Given the description of an element on the screen output the (x, y) to click on. 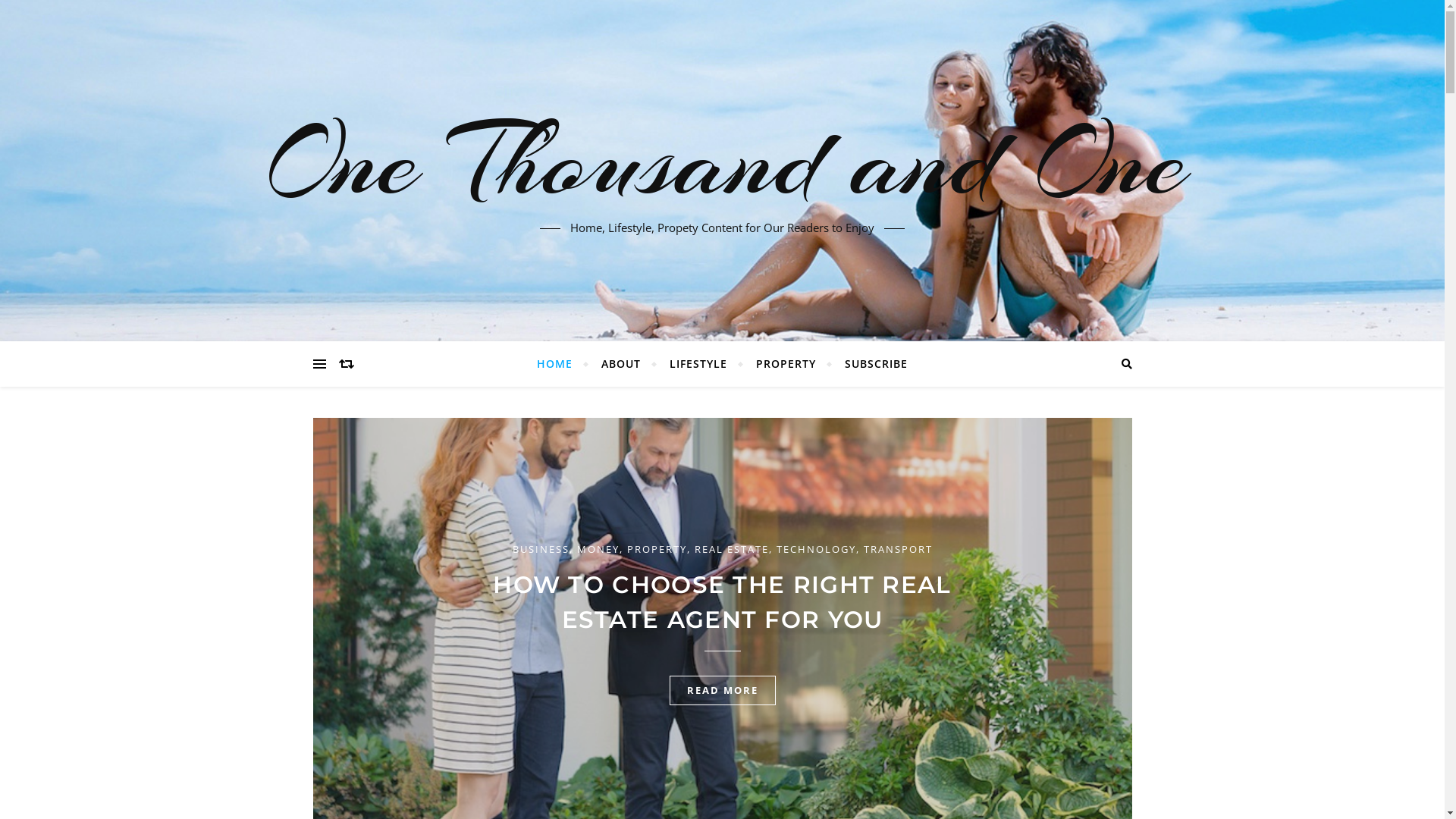
TRANSPORT Element type: text (896, 548)
BUSINESS Element type: text (540, 548)
One Thousand and One Element type: text (722, 161)
READ MORE Element type: text (721, 690)
REAL ESTATE Element type: text (731, 548)
SUBSCRIBE Element type: text (869, 363)
PROPERTY Element type: text (785, 363)
HOME Element type: text (560, 363)
LIFESTYLE Element type: text (698, 363)
TECHNOLOGY Element type: text (816, 548)
HOW TO CHOOSE THE RIGHT REAL ESTATE AGENT FOR YOU Element type: text (721, 601)
PROPERTY Element type: text (656, 548)
ABOUT Element type: text (620, 363)
MONEY Element type: text (597, 548)
